Given the description of an element on the screen output the (x, y) to click on. 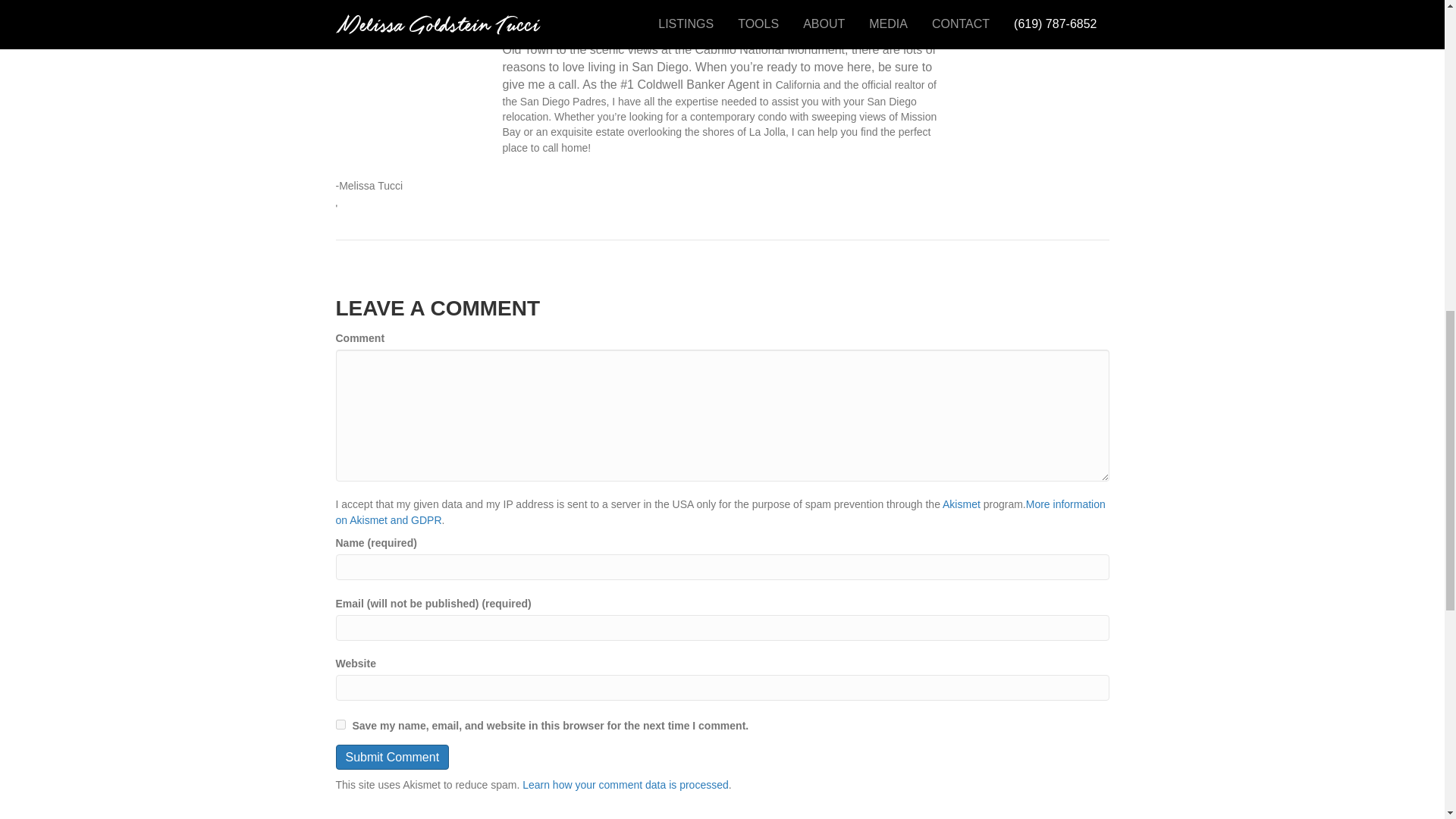
Submit Comment (391, 756)
Learn how your comment data is processed (625, 784)
More information on Akismet and GDPR (719, 511)
yes (339, 724)
Submit Comment (391, 756)
Akismet (960, 503)
